Given the description of an element on the screen output the (x, y) to click on. 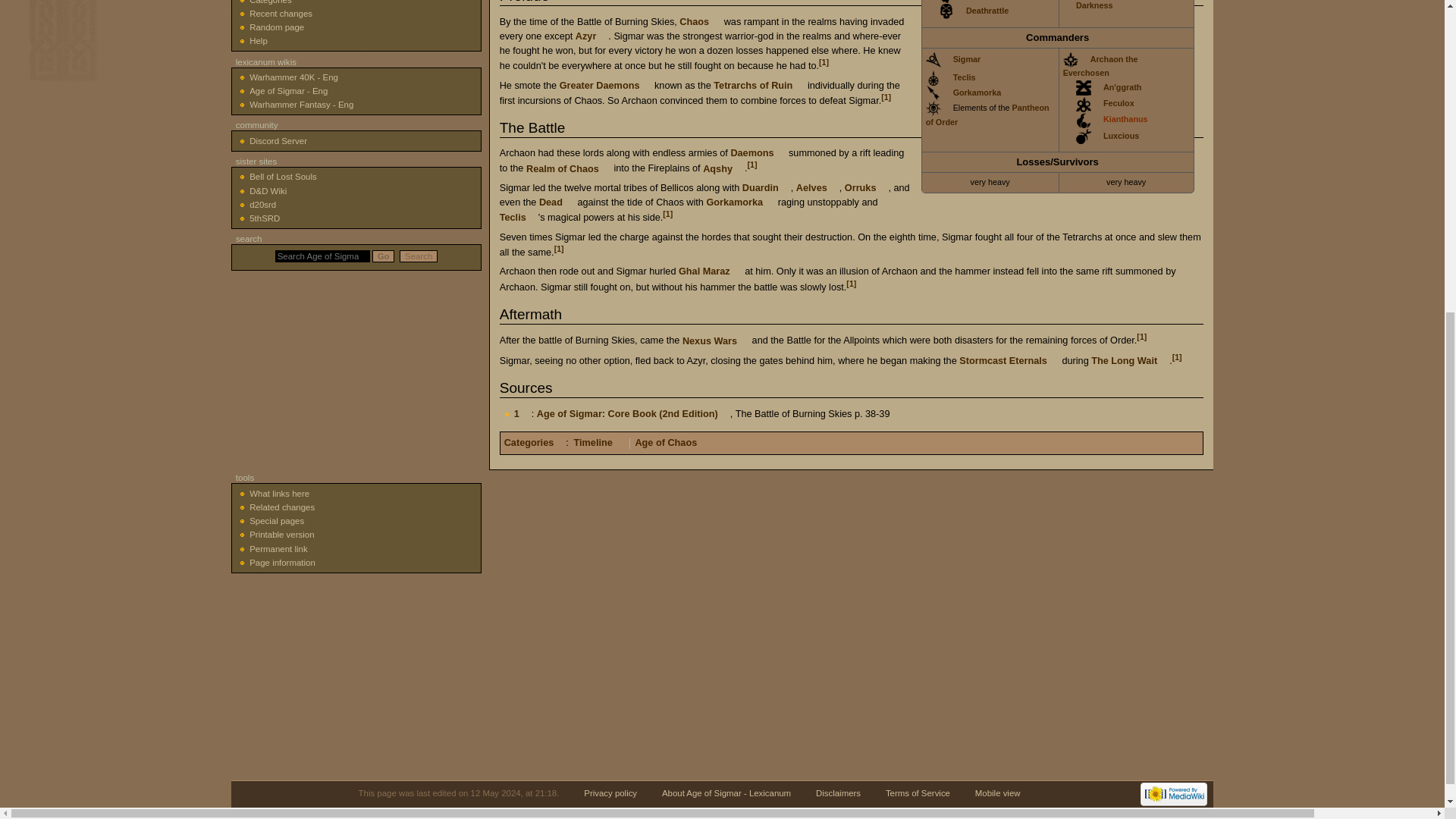
Go (383, 256)
Search (418, 256)
Search (418, 256)
Go (383, 256)
